Given the description of an element on the screen output the (x, y) to click on. 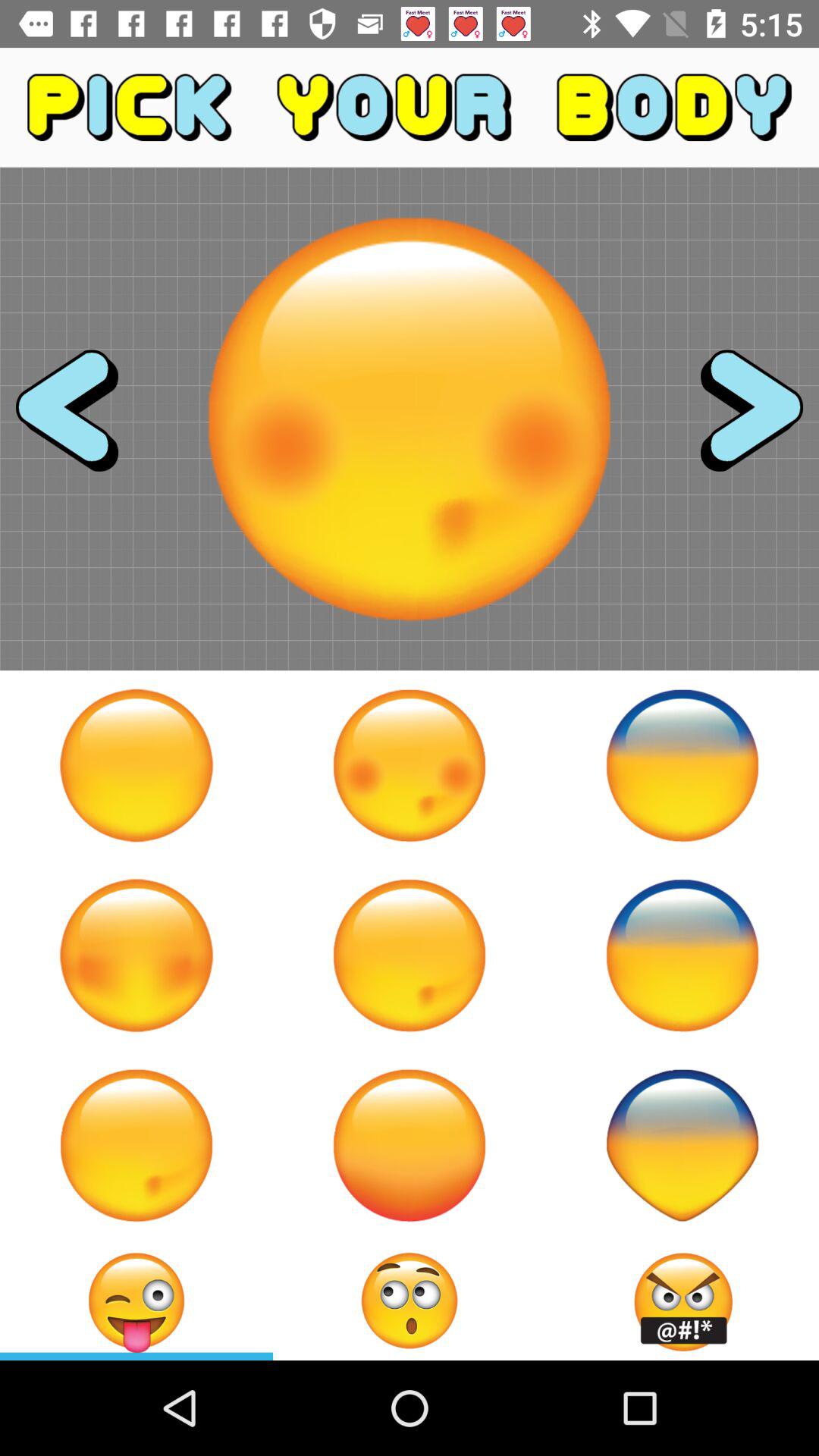
select this option (409, 955)
